Given the description of an element on the screen output the (x, y) to click on. 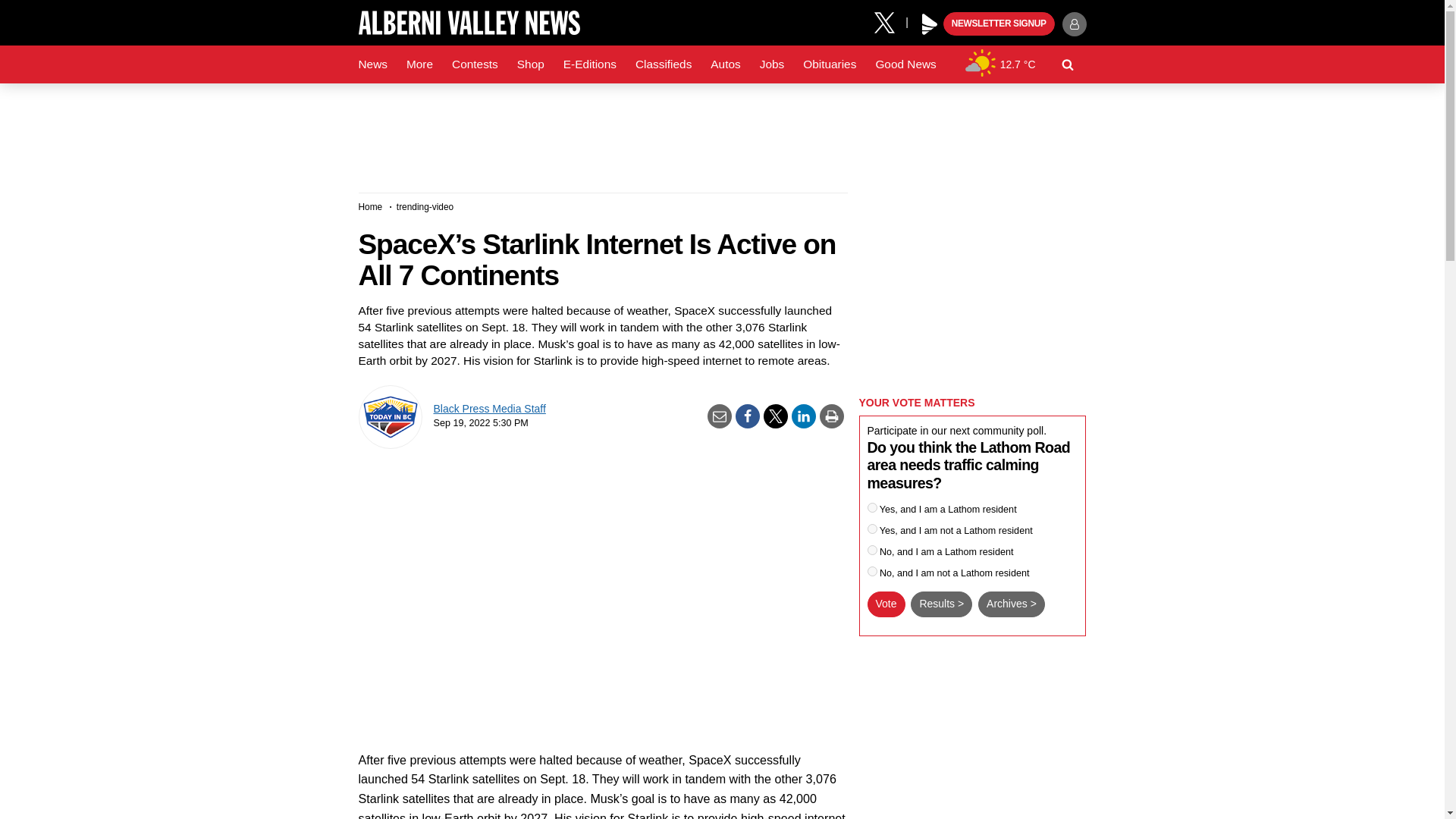
246 (872, 507)
NEWSLETTER SIGNUP (998, 24)
248 (872, 550)
Black Press Media (929, 24)
Play (929, 24)
X (889, 21)
249 (872, 571)
News (372, 64)
247 (872, 528)
